Given the description of an element on the screen output the (x, y) to click on. 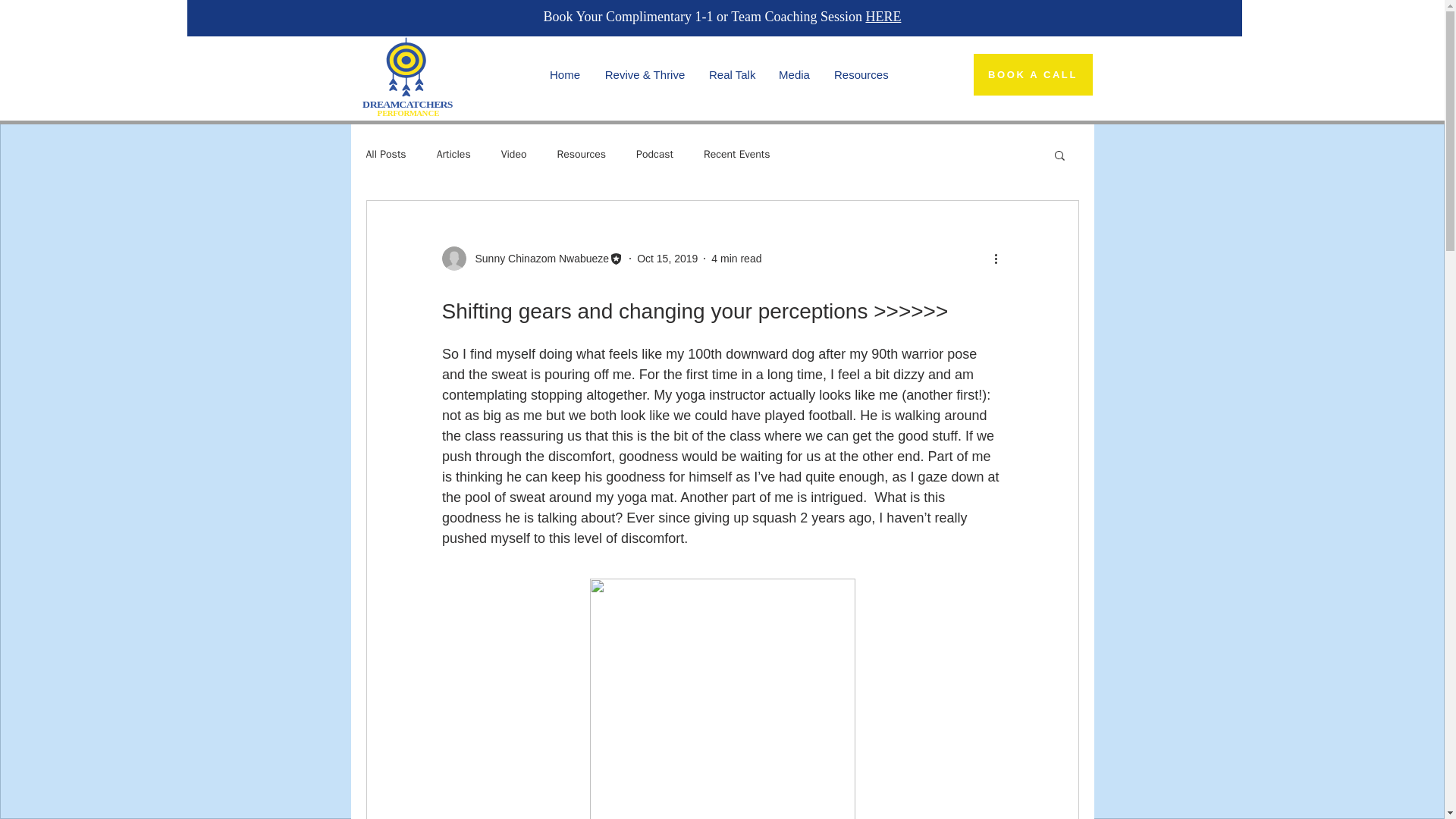
All Posts (385, 154)
Sunny Chinazom Nwabueze (536, 258)
Media (793, 74)
Sunny Chinazom Nwabueze (532, 258)
Video (513, 154)
HERE (882, 16)
Resources (580, 154)
4 min read (736, 257)
Recent Events (736, 154)
Articles (453, 154)
